Given the description of an element on the screen output the (x, y) to click on. 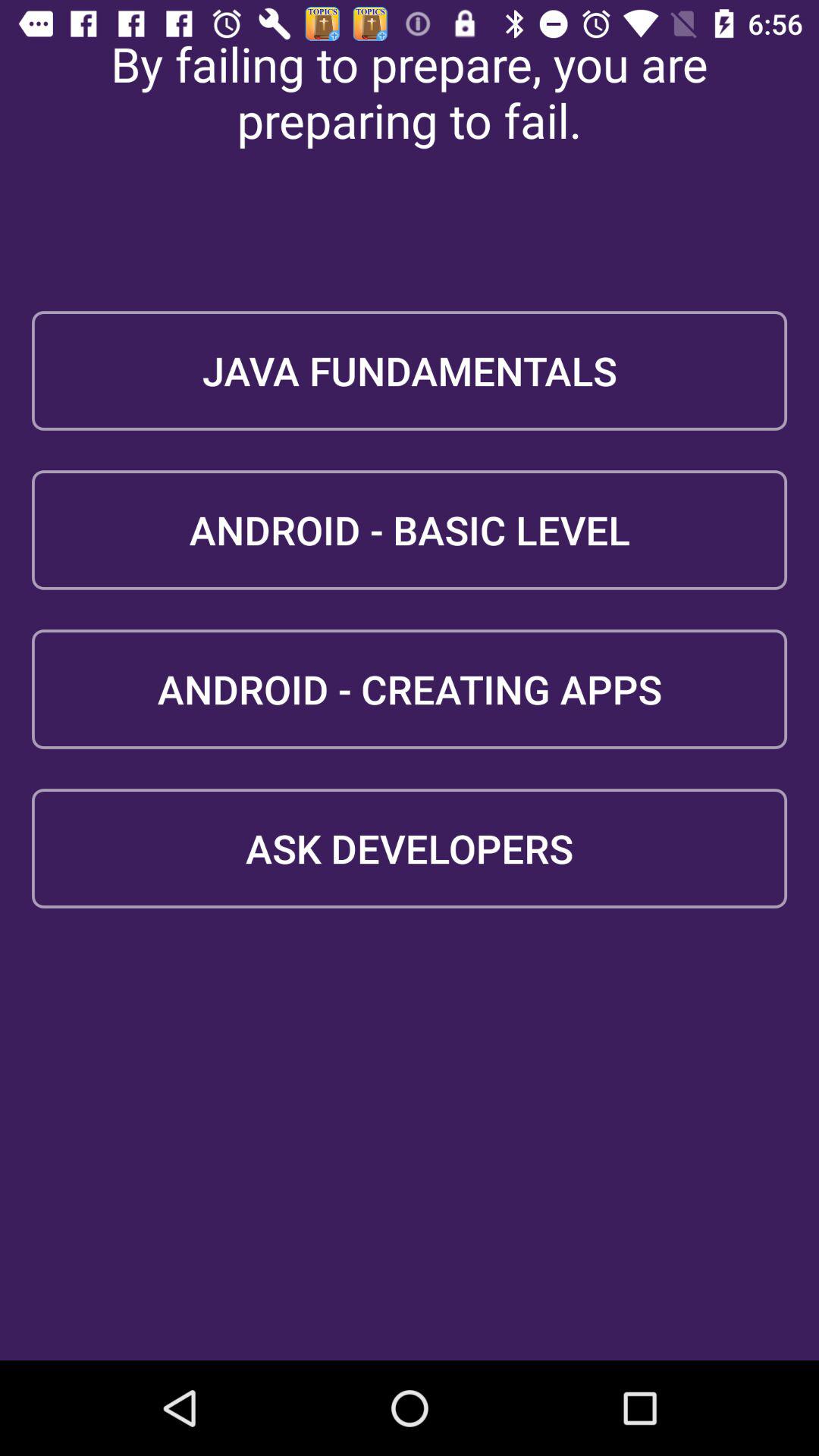
turn off the android - basic level (409, 529)
